Given the description of an element on the screen output the (x, y) to click on. 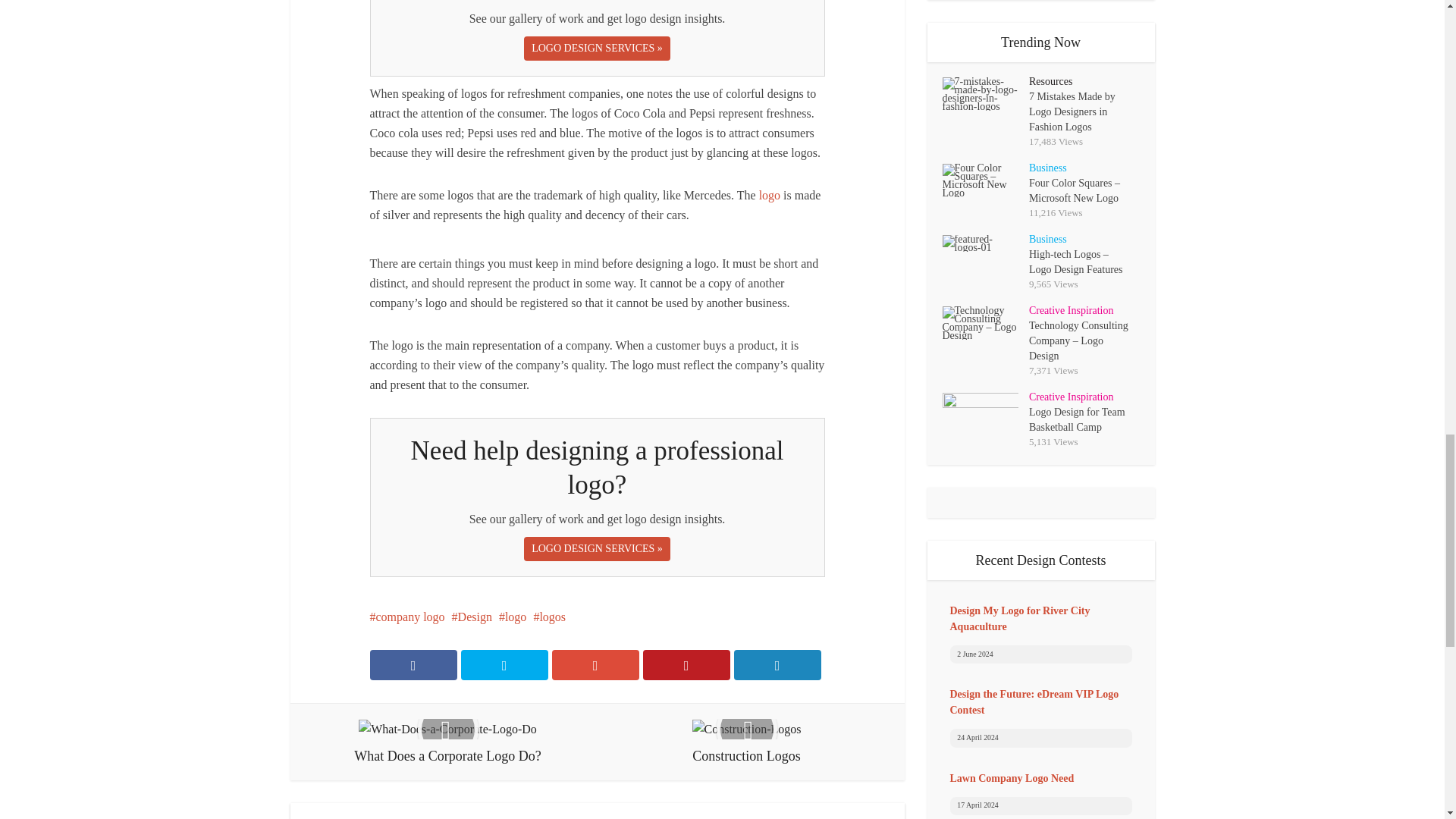
logo (769, 195)
Design (471, 616)
Construction Logos (746, 741)
Logo Design (769, 195)
What Does a Corporate Logo Do? (447, 741)
logo (512, 616)
logos (549, 616)
company logo (407, 616)
